Given the description of an element on the screen output the (x, y) to click on. 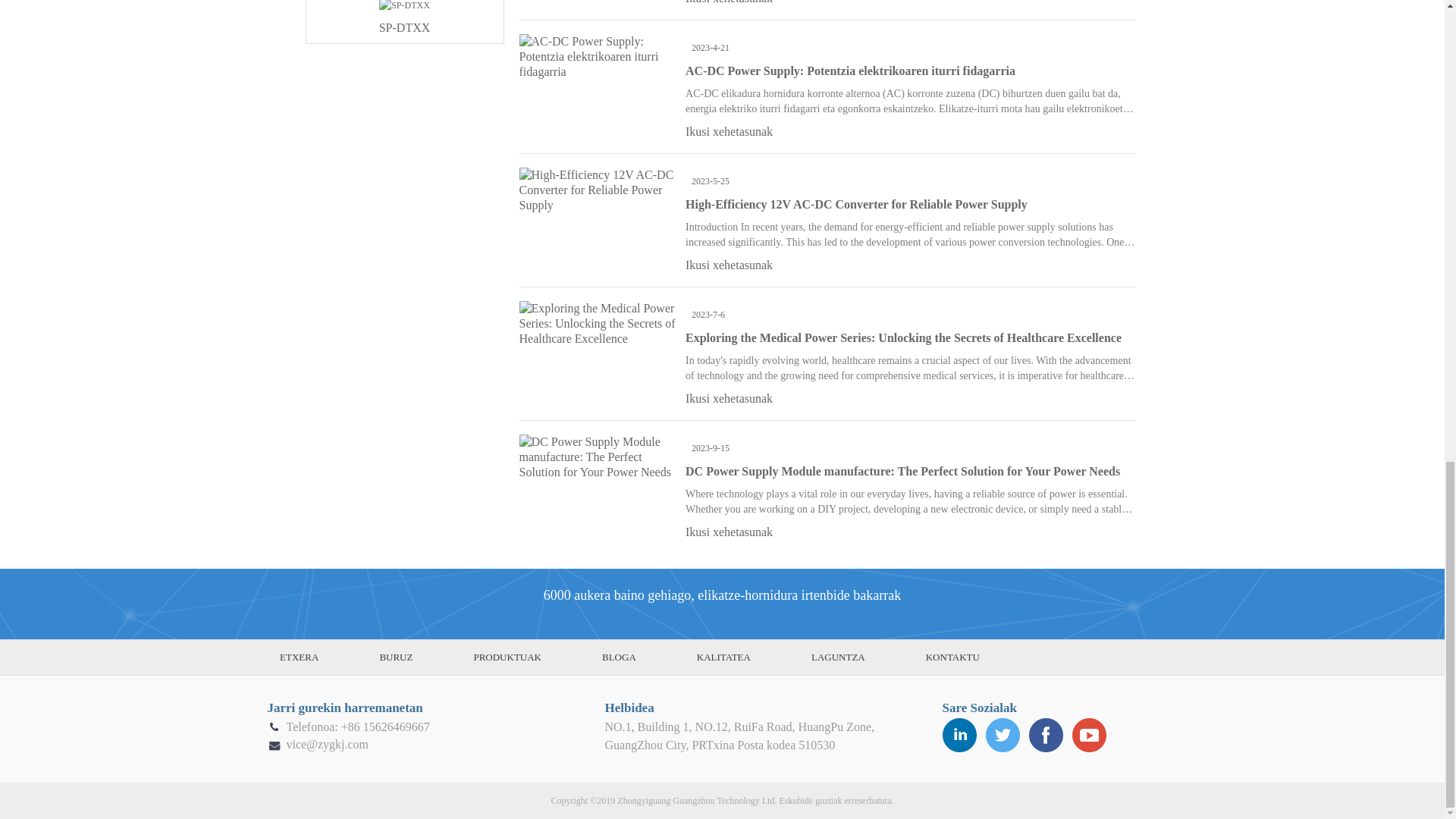
SP-DTXX (404, 21)
Ikusi xehetasunak (729, 131)
Ikusi xehetasunak (729, 264)
Ikusi xehetasunak (729, 2)
SP-DTXX (404, 21)
